Given the description of an element on the screen output the (x, y) to click on. 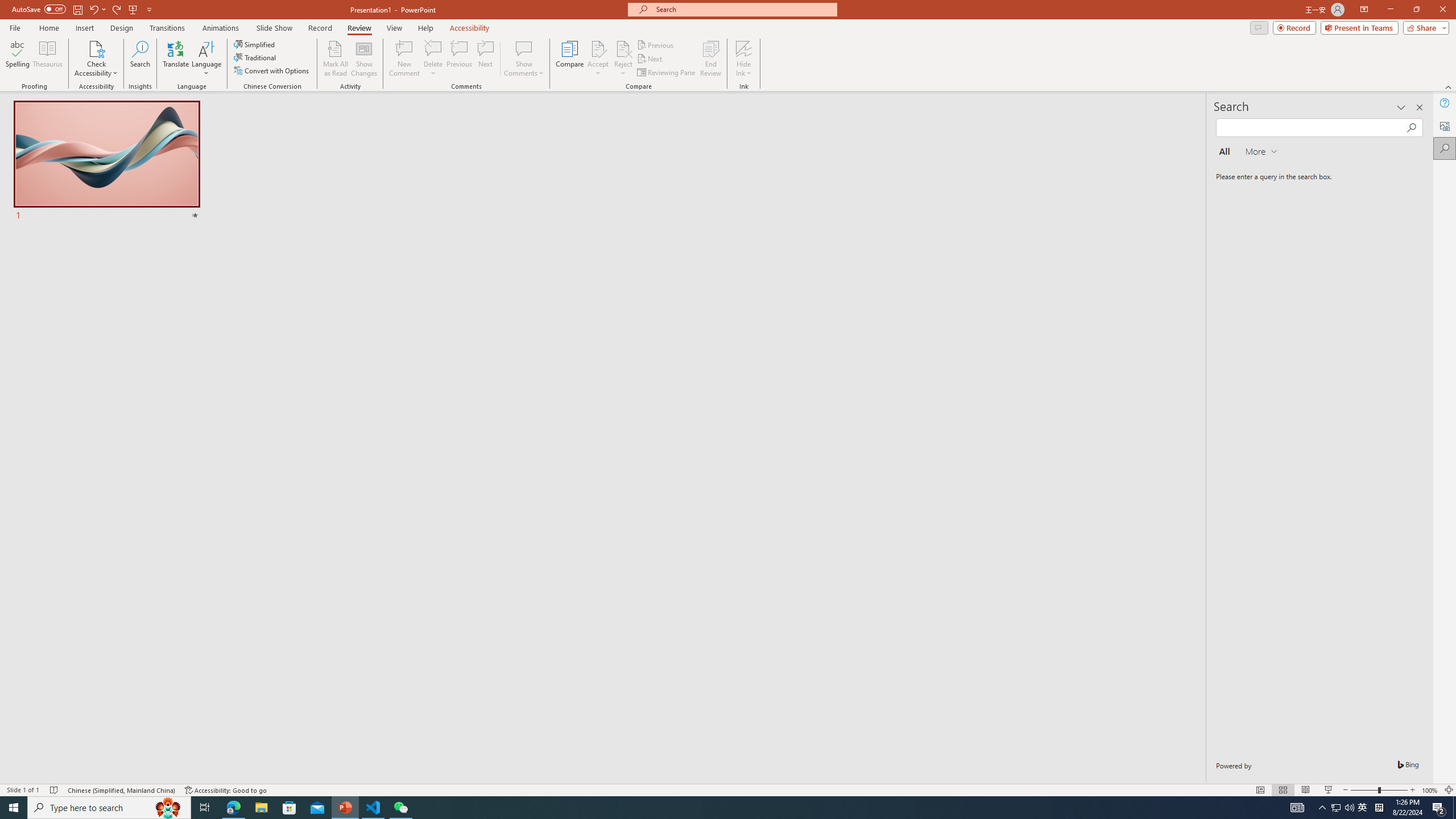
Previous (655, 44)
Show Comments (524, 48)
Hide Ink (743, 48)
Alt Text (1444, 125)
Accept Change (598, 48)
Zoom 100% (1430, 790)
Check Accessibility (95, 58)
